Given the description of an element on the screen output the (x, y) to click on. 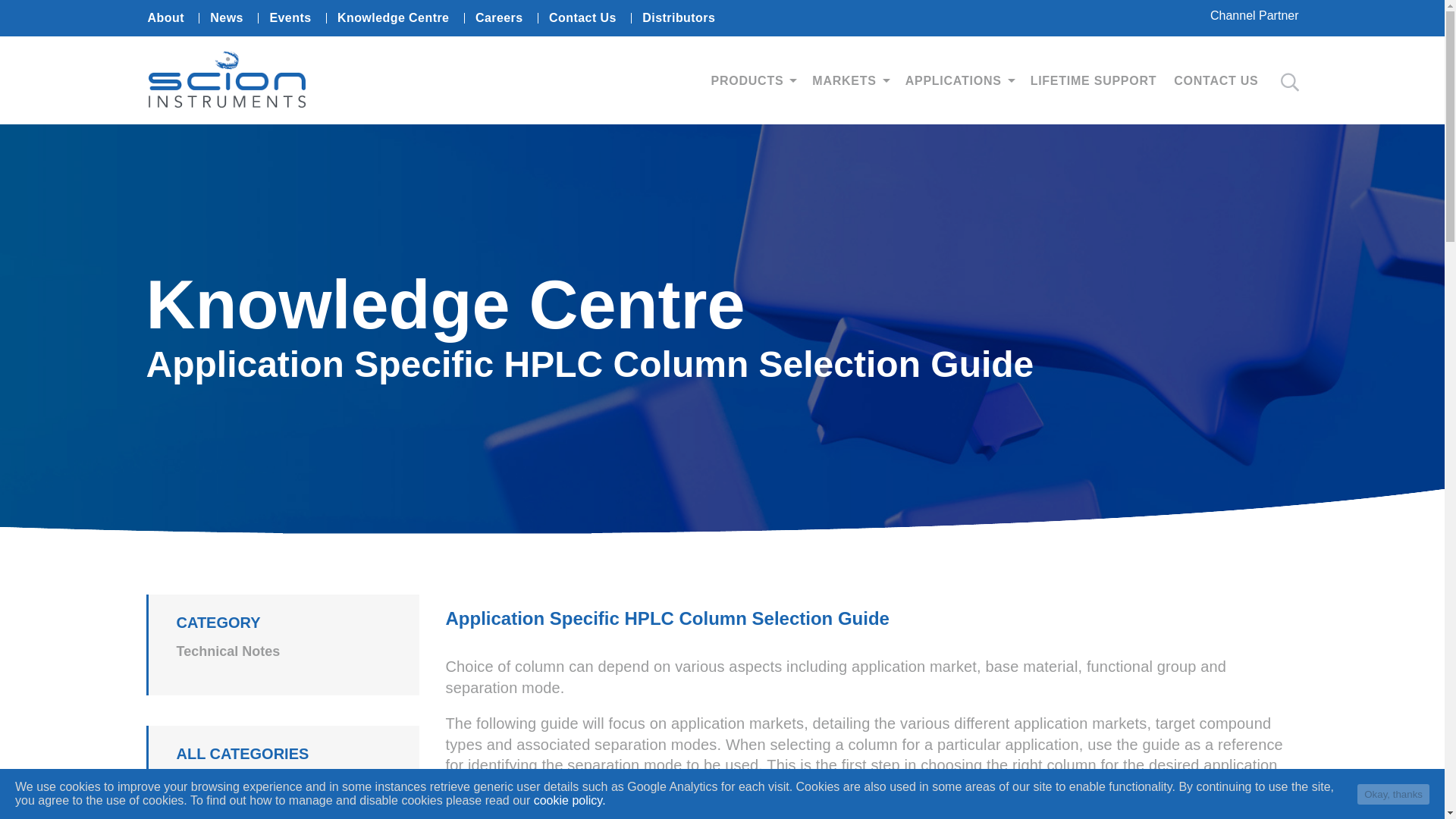
Contact Us (582, 17)
About (164, 17)
News (226, 17)
SCION Instruments home page (226, 103)
Channel Partner (1253, 18)
Knowledge Centre (393, 17)
APPLICATIONS (960, 80)
search site (1288, 81)
CONTACT US (1217, 80)
MARKETS (851, 80)
